Given the description of an element on the screen output the (x, y) to click on. 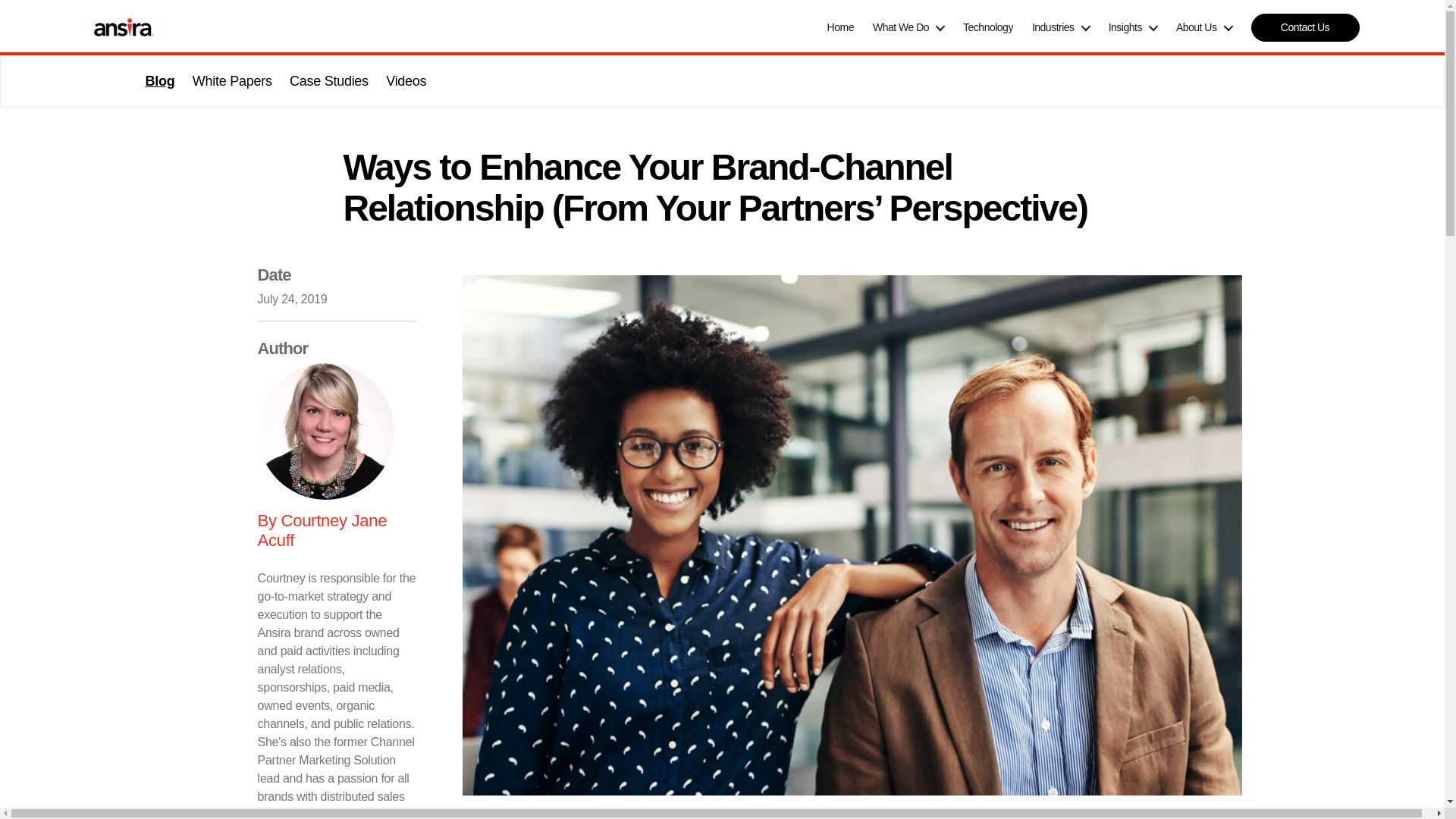
Blog (159, 80)
What We Do (907, 27)
White Papers (232, 80)
Insights (1132, 27)
About Us (1203, 27)
Case Studies (328, 80)
Contact Us (1304, 27)
Technology (987, 27)
Videos (405, 80)
Industries (1060, 27)
